Given the description of an element on the screen output the (x, y) to click on. 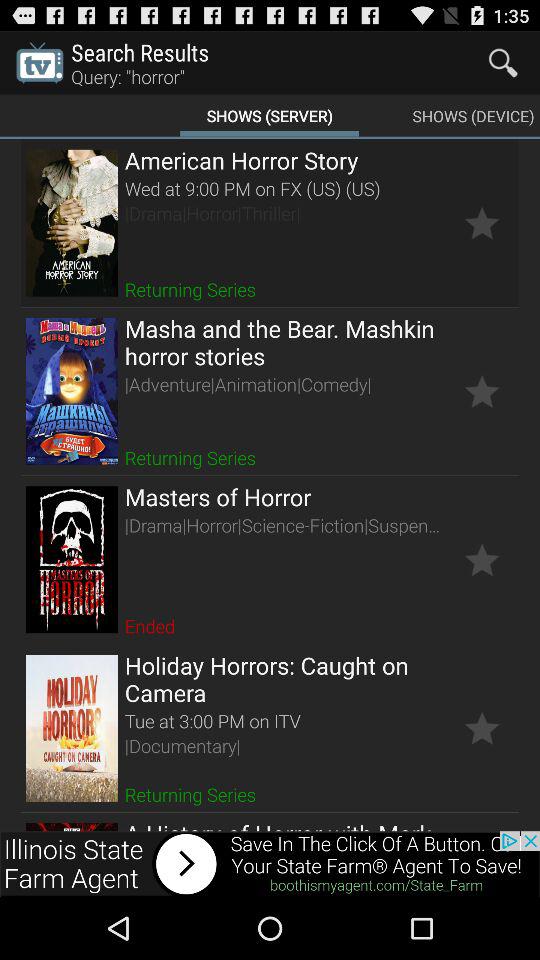
mark as favorite (481, 559)
